Given the description of an element on the screen output the (x, y) to click on. 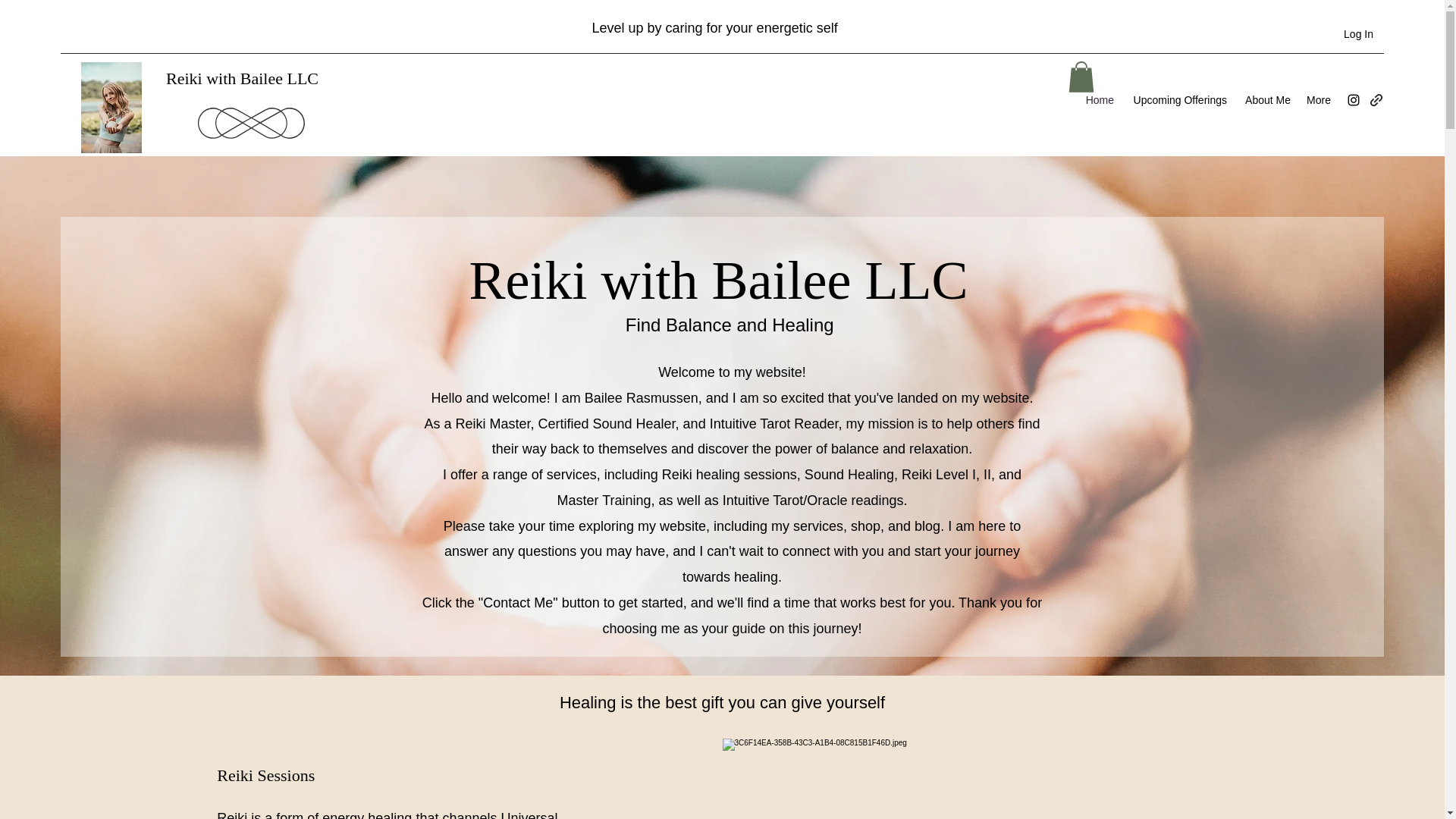
About Me (1266, 99)
Upcoming Offerings (1177, 99)
Reiki with Bailee LLC (241, 77)
Log In (1358, 34)
Home (1099, 99)
